Given the description of an element on the screen output the (x, y) to click on. 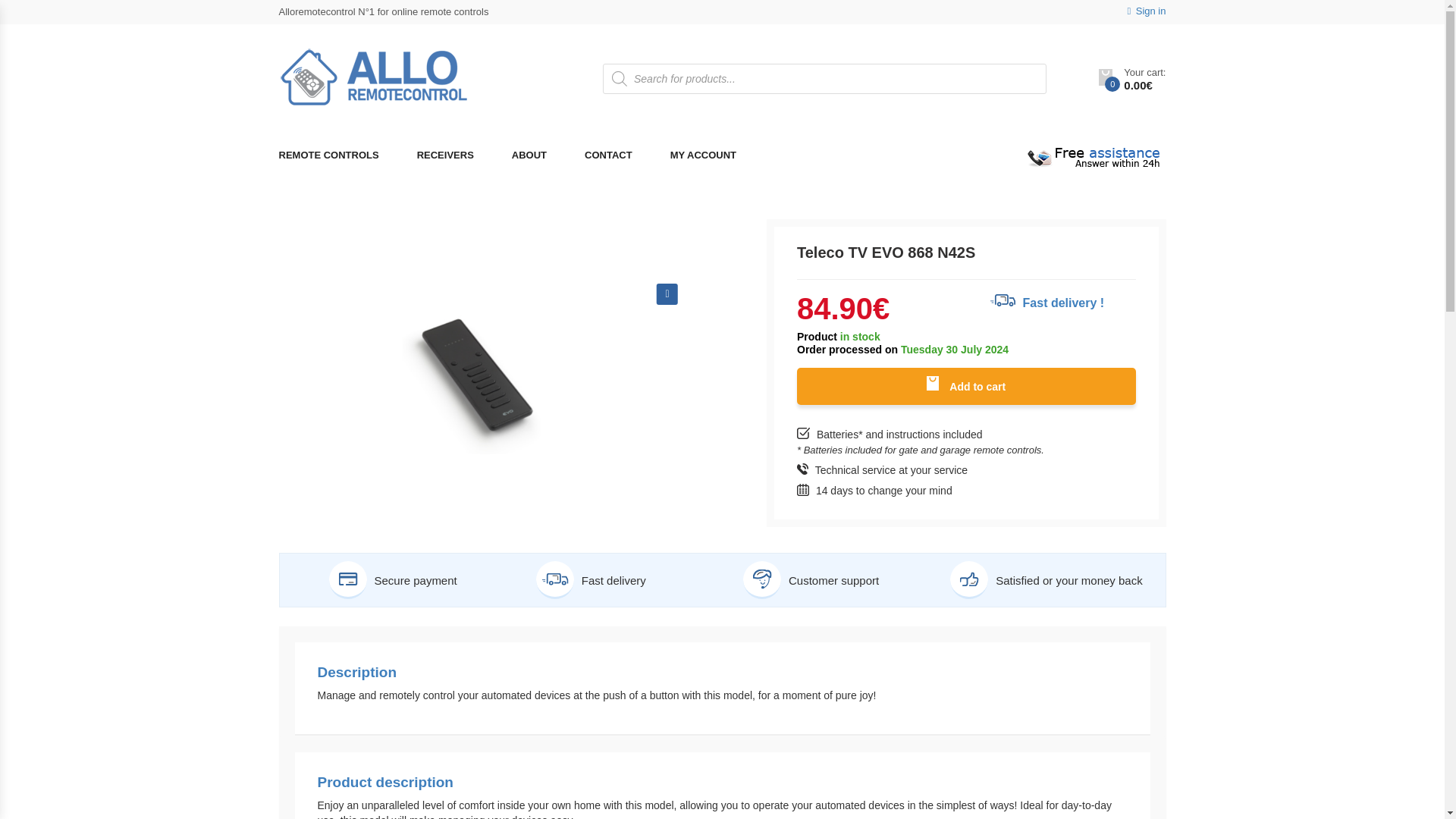
MY ACCOUNT (702, 155)
Sign in (1146, 10)
RECEIVERS (445, 155)
CONTACT (608, 155)
REMOTE CONTROLS (338, 155)
Remote controls (338, 155)
ABOUT (529, 155)
